Given the description of an element on the screen output the (x, y) to click on. 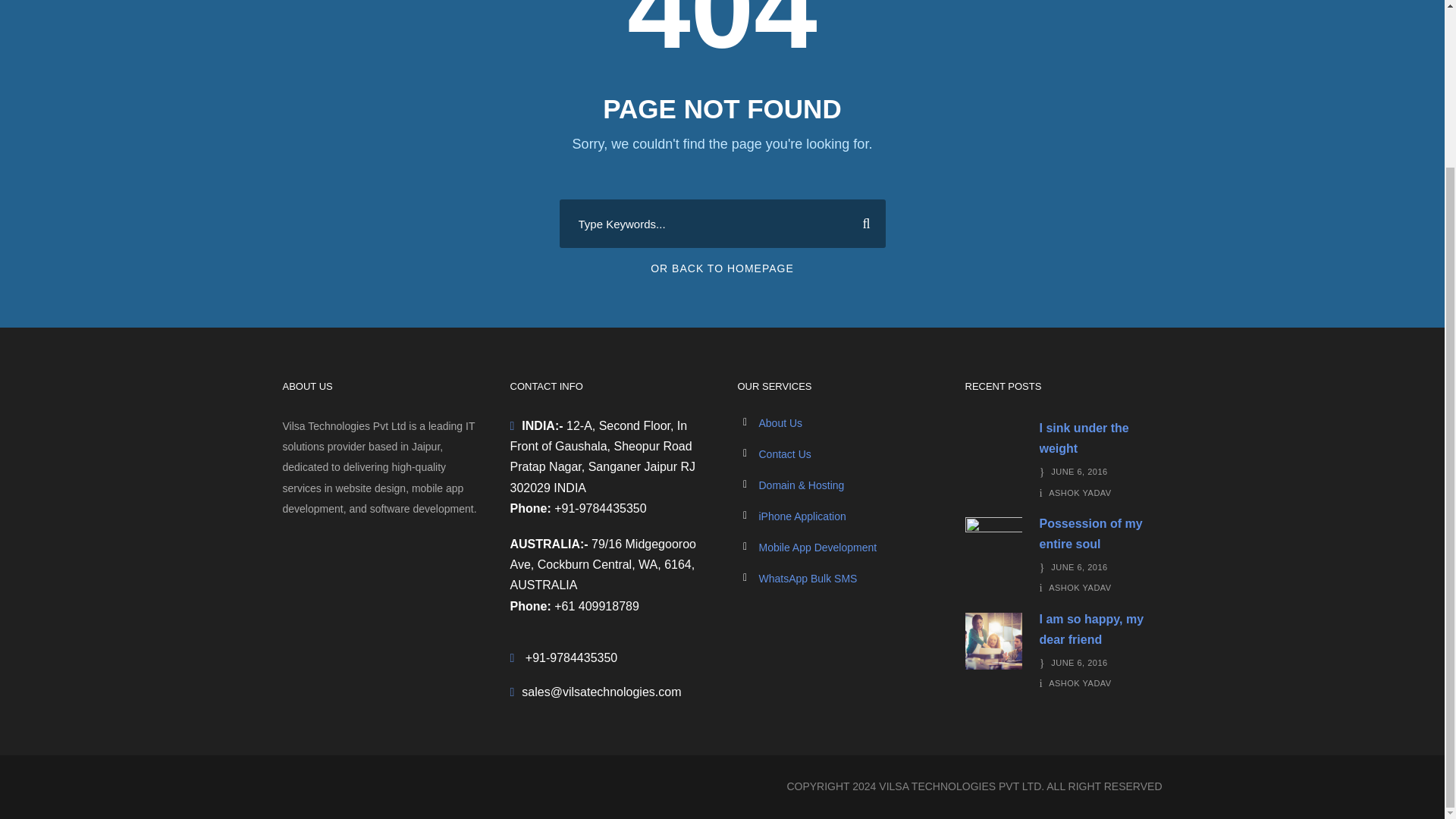
Posts by Ashok Yadav (1080, 492)
Posts by Ashok Yadav (1080, 587)
Posts by Ashok Yadav (1080, 682)
laptop-mobile (992, 449)
